Given the description of an element on the screen output the (x, y) to click on. 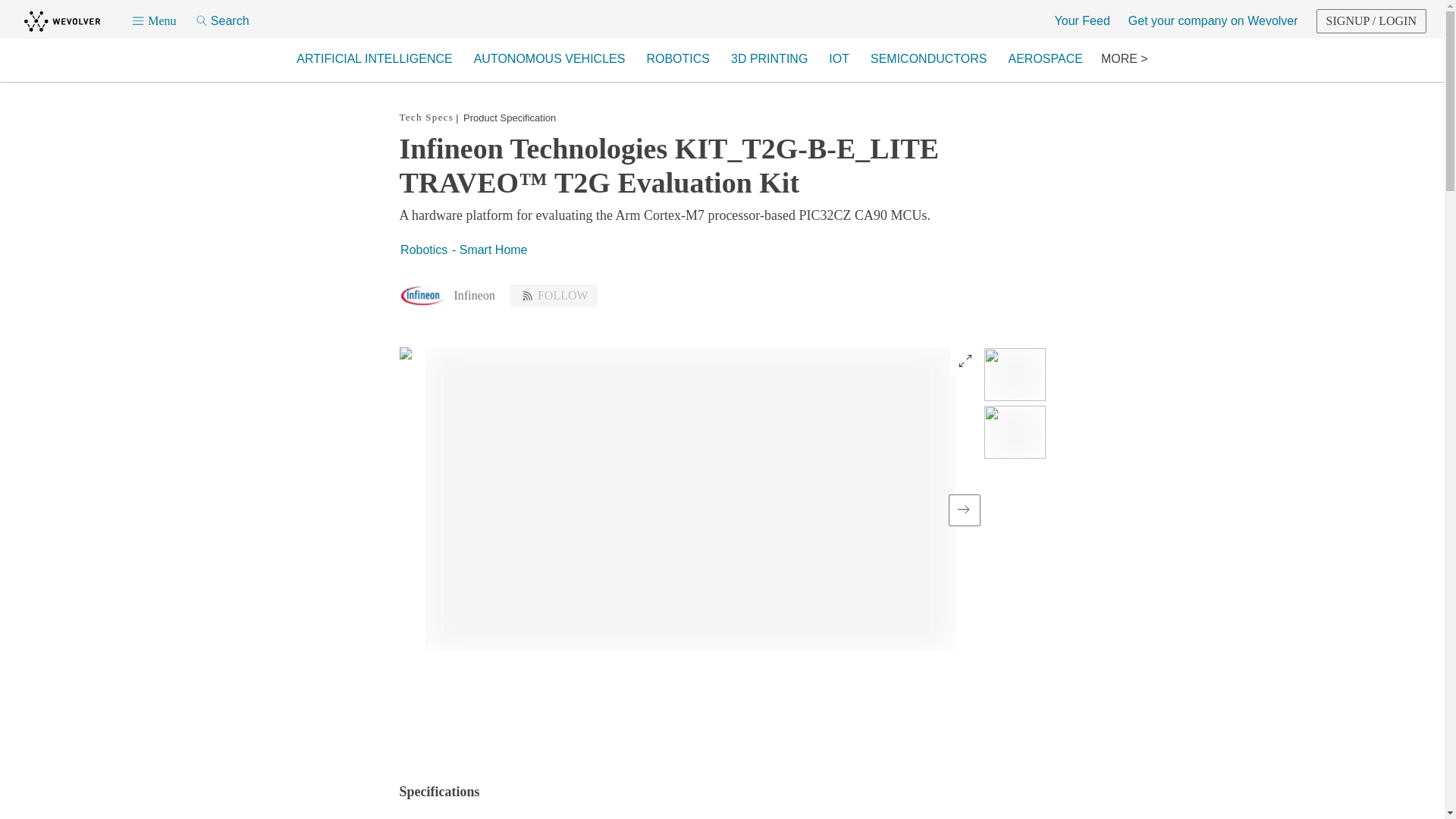
Menu (153, 21)
Infineon (473, 294)
Robotics (422, 250)
SEMICONDUCTORS (928, 59)
Your Feed (1081, 20)
- Smart Home (488, 252)
3D PRINTING (769, 59)
FOLLOW (553, 295)
AUTONOMOUS VEHICLES (549, 59)
Get your company on Wevolver (1213, 20)
IOT (839, 59)
ROBOTICS (678, 59)
AEROSPACE (1045, 59)
ARTIFICIAL INTELLIGENCE (373, 59)
Tech Specs (425, 116)
